Given the description of an element on the screen output the (x, y) to click on. 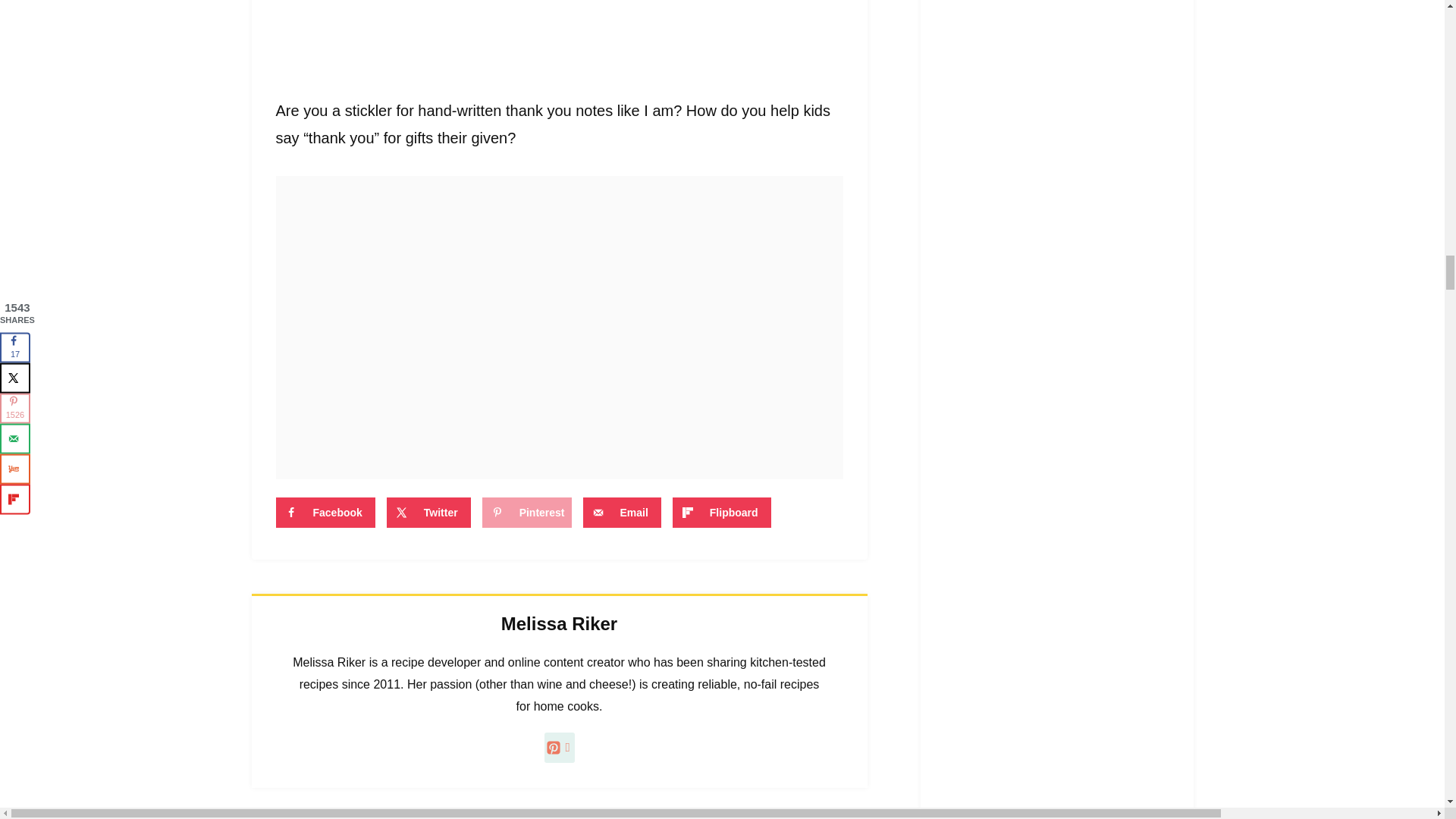
Share on Facebook (325, 512)
Facebook (325, 512)
Posts by Melissa Riker (558, 623)
Pinterest (526, 512)
Save to Pinterest (526, 512)
Share on X (428, 512)
Follow Melissa Riker on Pinterest (559, 747)
Share on Flipboard (721, 512)
Email (621, 512)
Send over email (621, 512)
Twitter (428, 512)
